Given the description of an element on the screen output the (x, y) to click on. 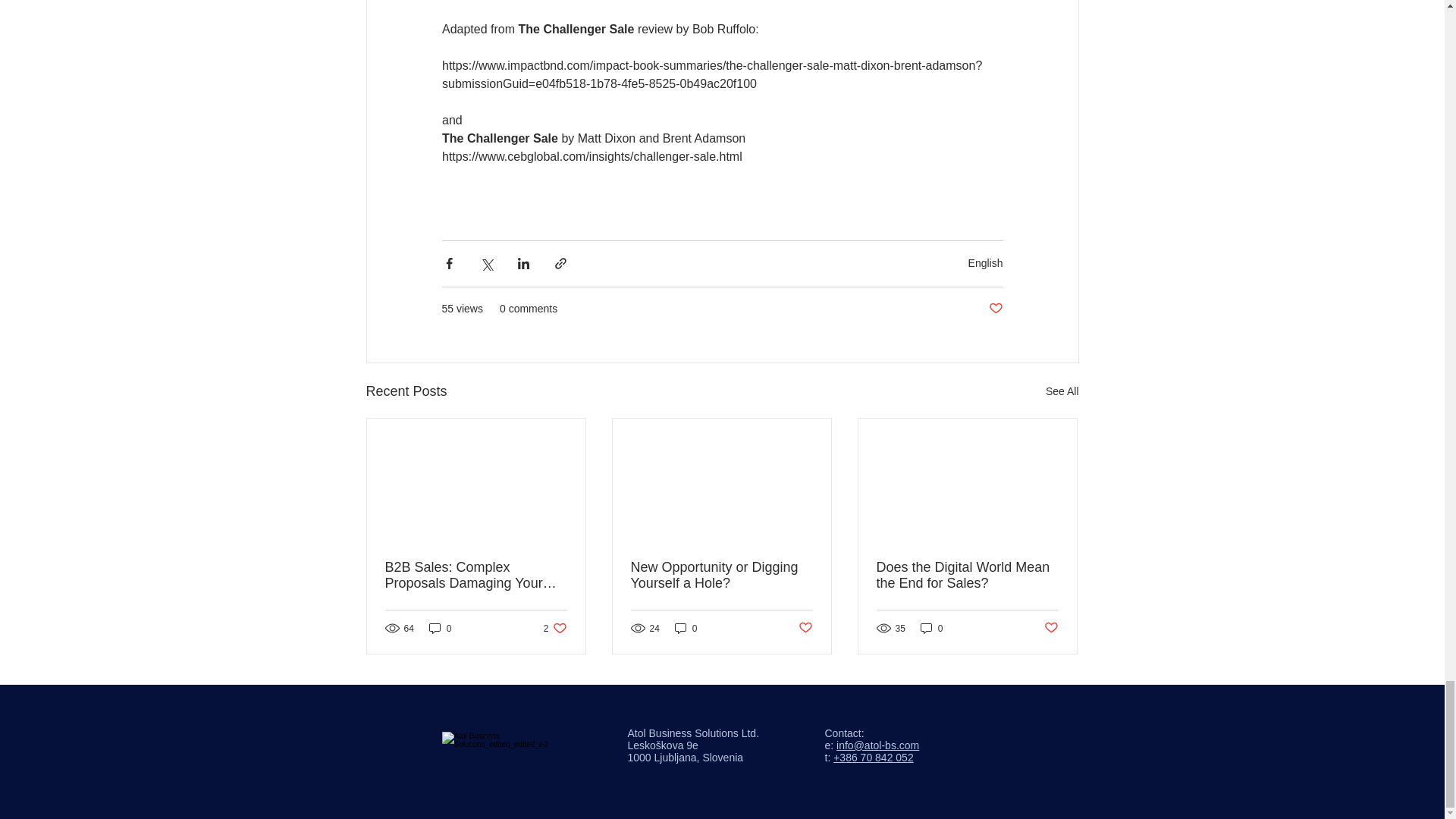
Post not marked as liked (555, 627)
0 (1050, 627)
English (685, 627)
0 (985, 263)
Post not marked as liked (931, 627)
See All (995, 308)
0 (1061, 391)
Post not marked as liked (440, 627)
Does the Digital World Mean the End for Sales? (804, 627)
New Opportunity or Digging Yourself a Hole? (967, 575)
